Given the description of an element on the screen output the (x, y) to click on. 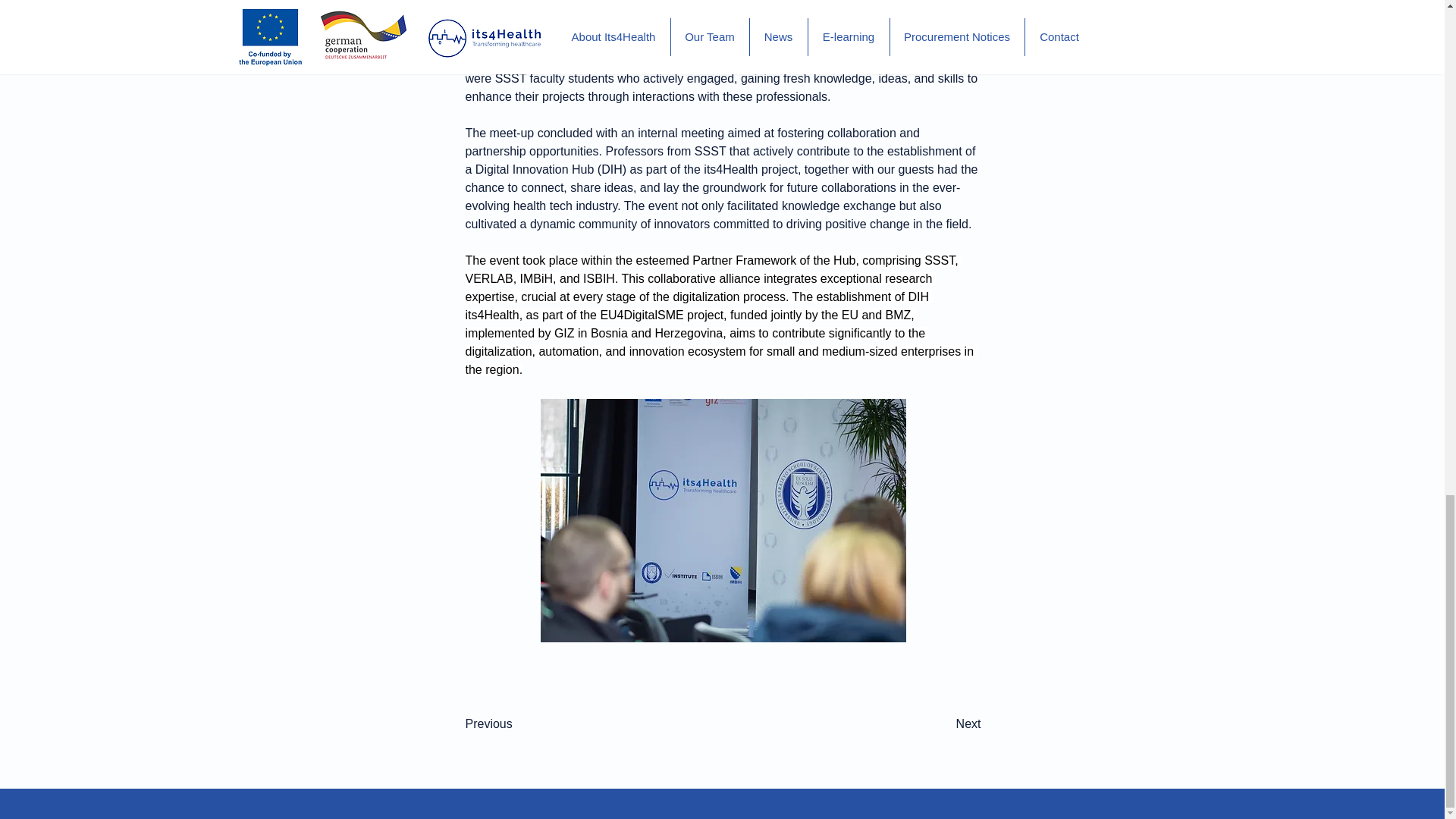
Previous (515, 724)
Next (943, 724)
